Given the description of an element on the screen output the (x, y) to click on. 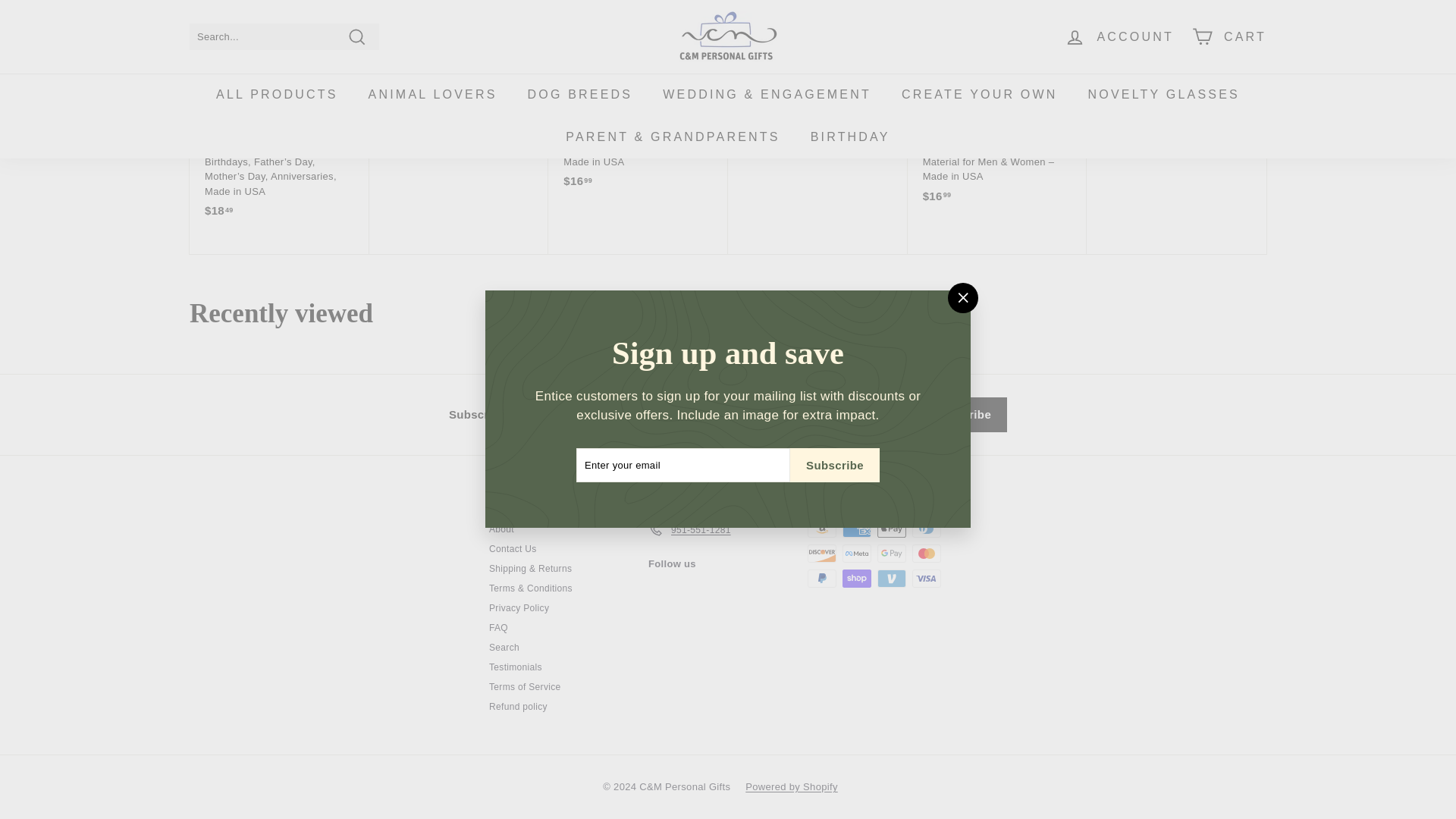
Meta Pay (856, 553)
Mastercard (926, 553)
Shop Pay (856, 578)
Visa (926, 578)
PayPal (821, 578)
Google Pay (891, 553)
Discover (821, 553)
Venmo (891, 578)
Amazon (821, 528)
Apple Pay (891, 528)
American Express (856, 528)
Diners Club (926, 528)
